Given the description of an element on the screen output the (x, y) to click on. 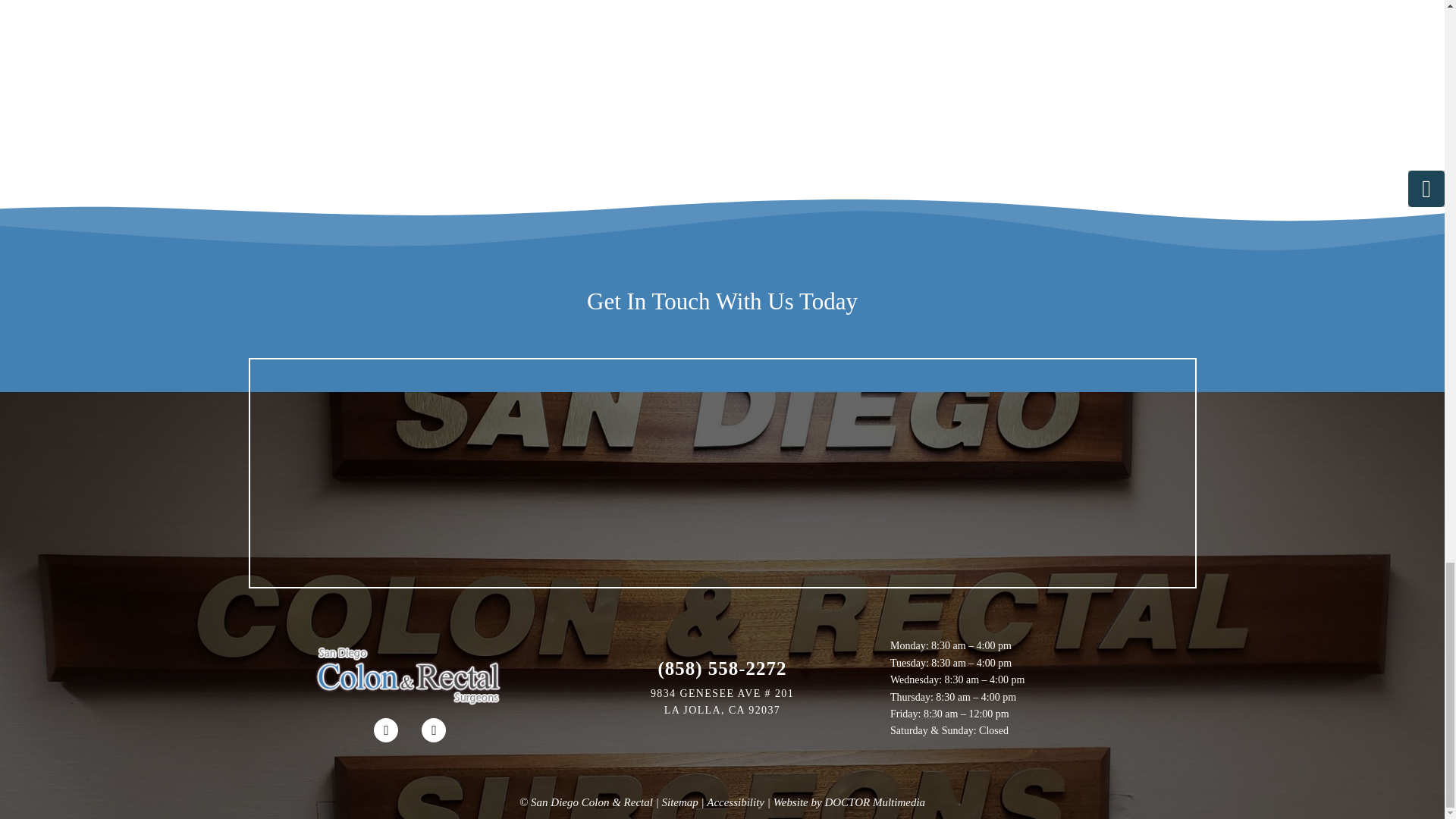
Website by DOCTOR Multimedia (848, 802)
Sitemap (680, 802)
Accessibility (735, 802)
